Given the description of an element on the screen output the (x, y) to click on. 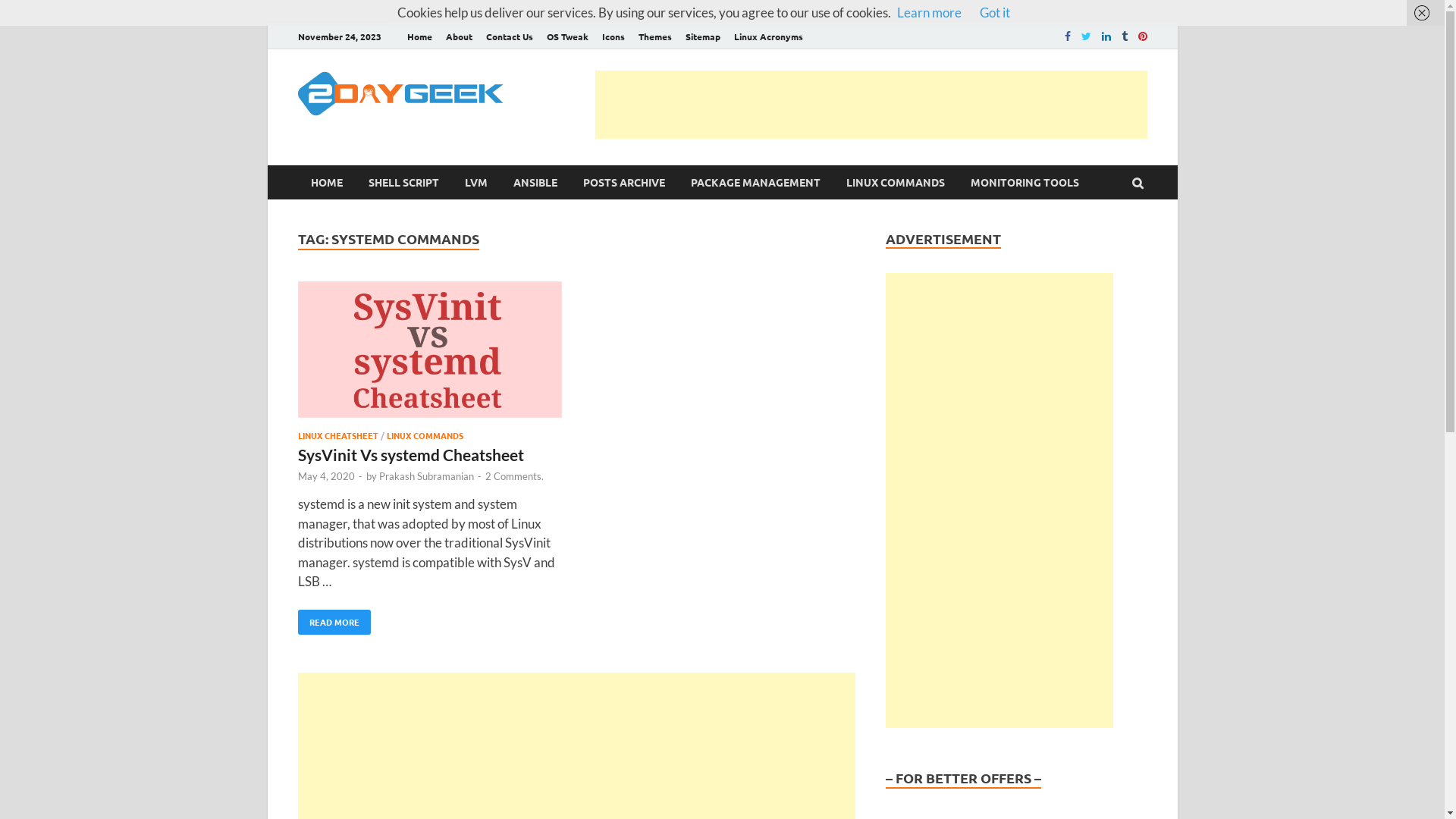
READ MORE Element type: text (333, 621)
May 4, 2020 Element type: text (325, 476)
Prakash Subramanian Element type: text (426, 476)
Home Element type: text (419, 35)
SysVinit Vs systemd Cheatsheet Element type: text (410, 454)
HOME Element type: text (325, 182)
Learn more Element type: text (928, 12)
Icons Element type: text (612, 35)
2 Comments. Element type: text (514, 476)
POSTS ARCHIVE Element type: text (623, 182)
Sitemap Element type: text (701, 35)
Got it Element type: text (994, 12)
PACKAGE MANAGEMENT Element type: text (755, 182)
LINUX CHEATSHEET Element type: text (337, 435)
LINUX COMMANDS Element type: text (894, 182)
MONITORING TOOLS Element type: text (1024, 182)
Contact Us Element type: text (509, 35)
Advertisement Element type: hover (999, 500)
LVM Element type: text (475, 182)
Linux Acronyms Element type: text (767, 35)
Advertisement Element type: hover (870, 104)
SHELL SCRIPT Element type: text (402, 182)
Themes Element type: text (653, 35)
2DayGeek Element type: text (592, 101)
OS Tweak Element type: text (567, 35)
ANSIBLE Element type: text (535, 182)
About Element type: text (458, 35)
LINUX COMMANDS Element type: text (424, 435)
SysVinit Vs systemd Cheatsheet Element type: hover (429, 351)
